Given the description of an element on the screen output the (x, y) to click on. 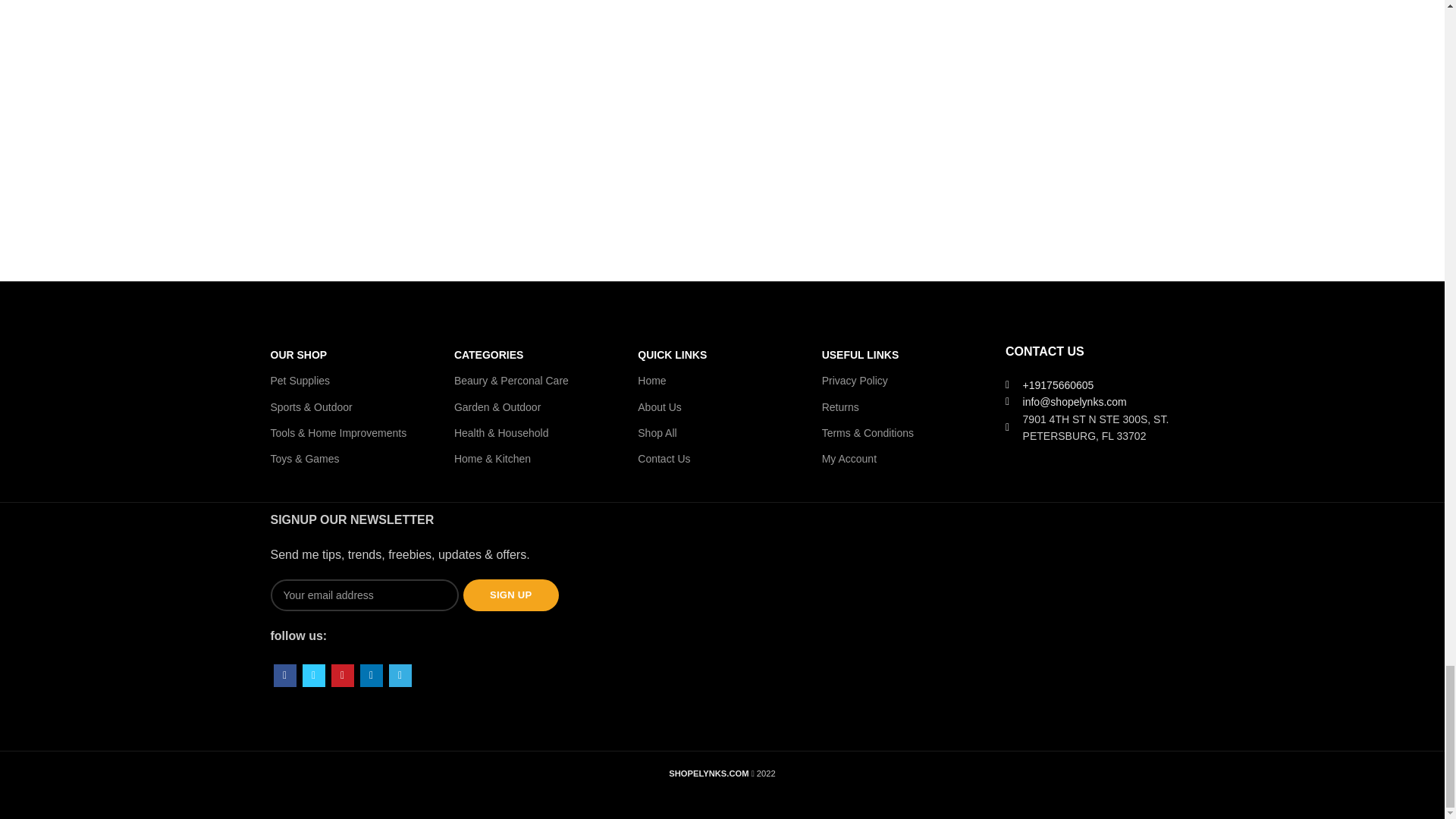
Sign up (511, 594)
